Given the description of an element on the screen output the (x, y) to click on. 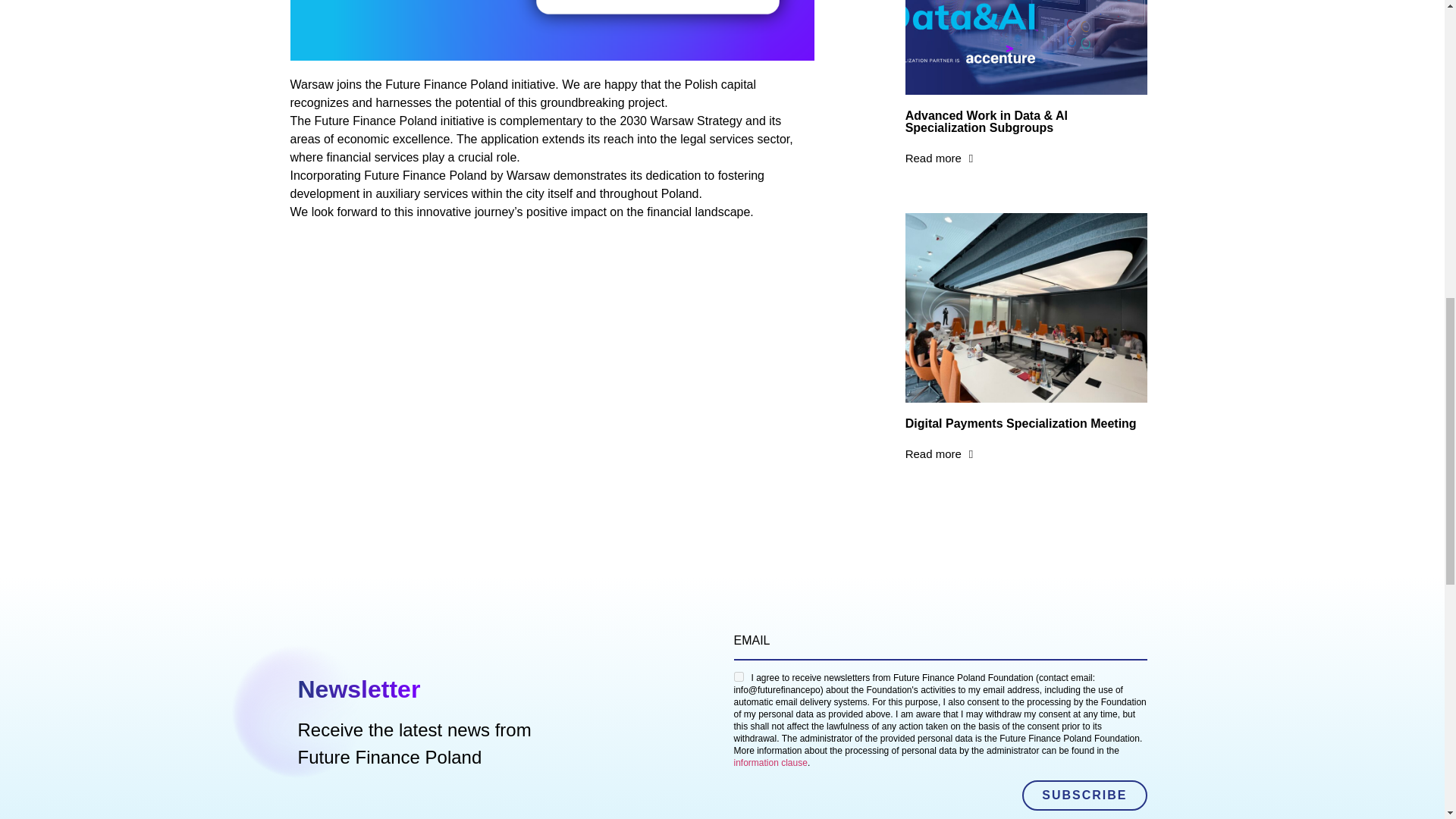
Read more (939, 158)
on (738, 676)
Read more (939, 453)
information clause (770, 762)
Digital Payments Specialization Meeting (1021, 422)
SUBSCRIBE (1084, 795)
